Given the description of an element on the screen output the (x, y) to click on. 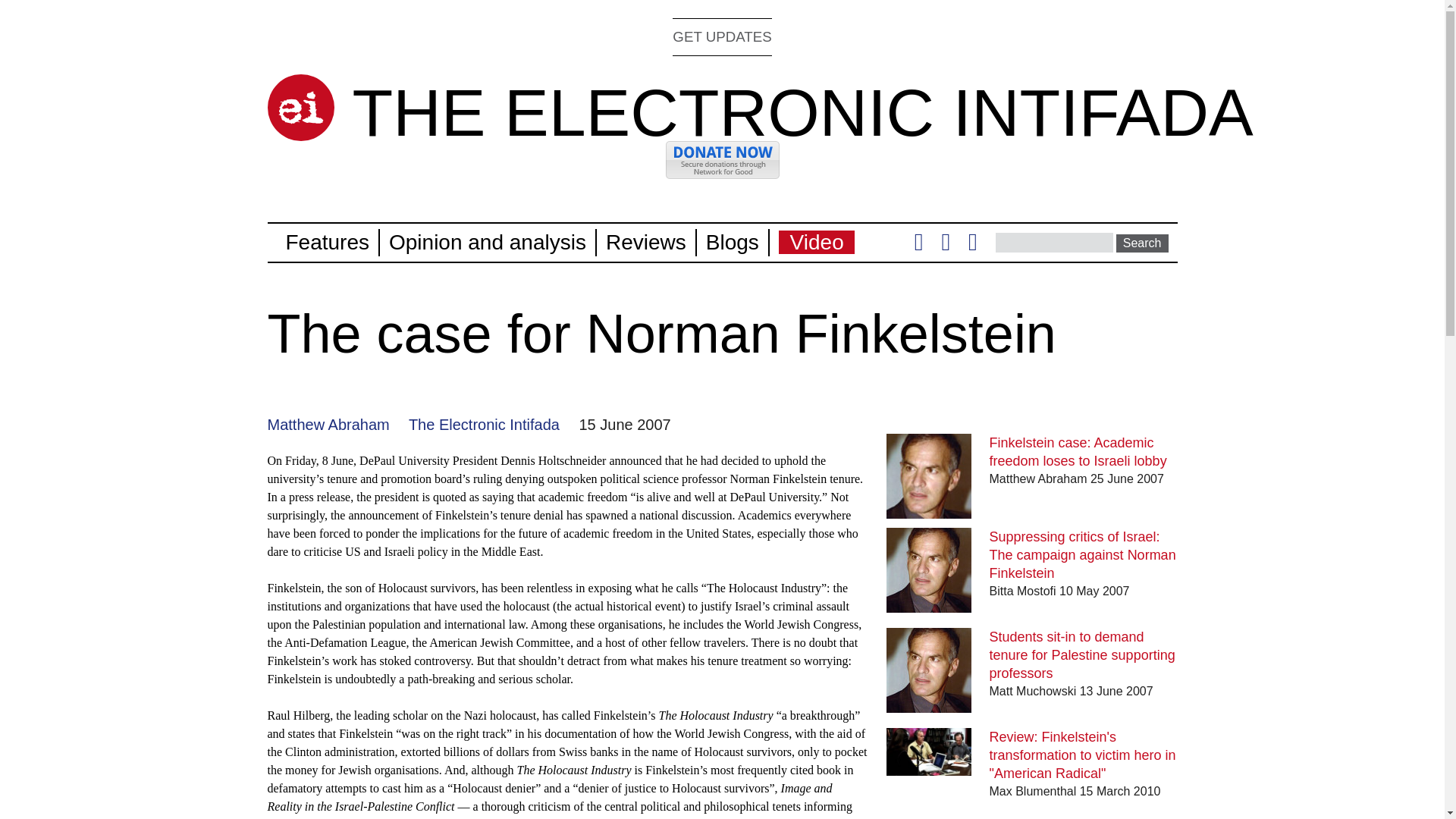
Home (299, 107)
The Electronic Intifada (484, 424)
Enter the terms you wish to search for. (1054, 242)
Reviews (645, 241)
Matthew Abraham (327, 424)
THE ELECTRONIC INTIFADA (802, 112)
GET UPDATES (721, 37)
Search (1142, 243)
Blogs (732, 241)
Opinion and analysis (487, 241)
Search (1142, 243)
Home (802, 112)
